Given the description of an element on the screen output the (x, y) to click on. 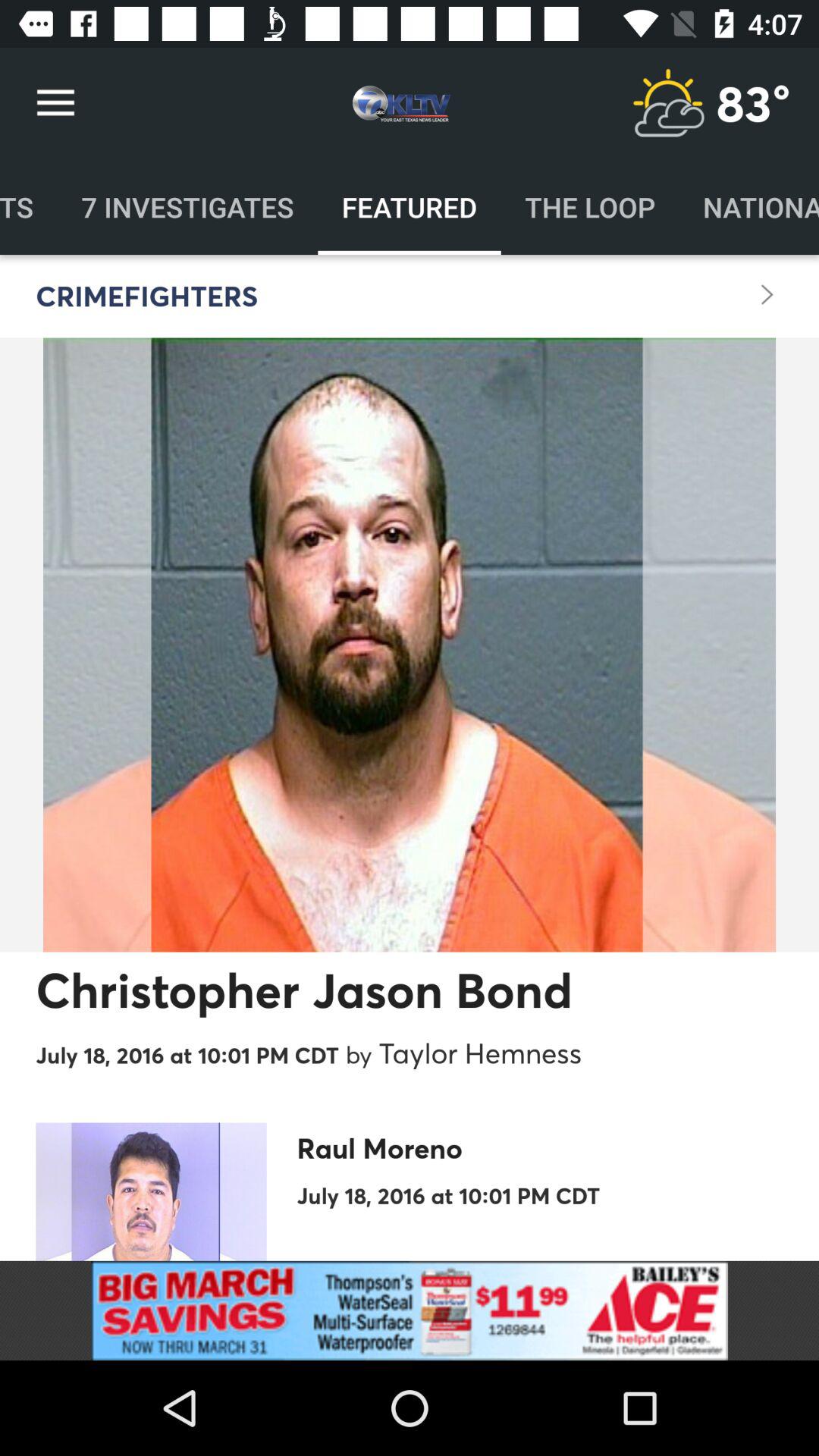
web add (409, 1310)
